Given the description of an element on the screen output the (x, y) to click on. 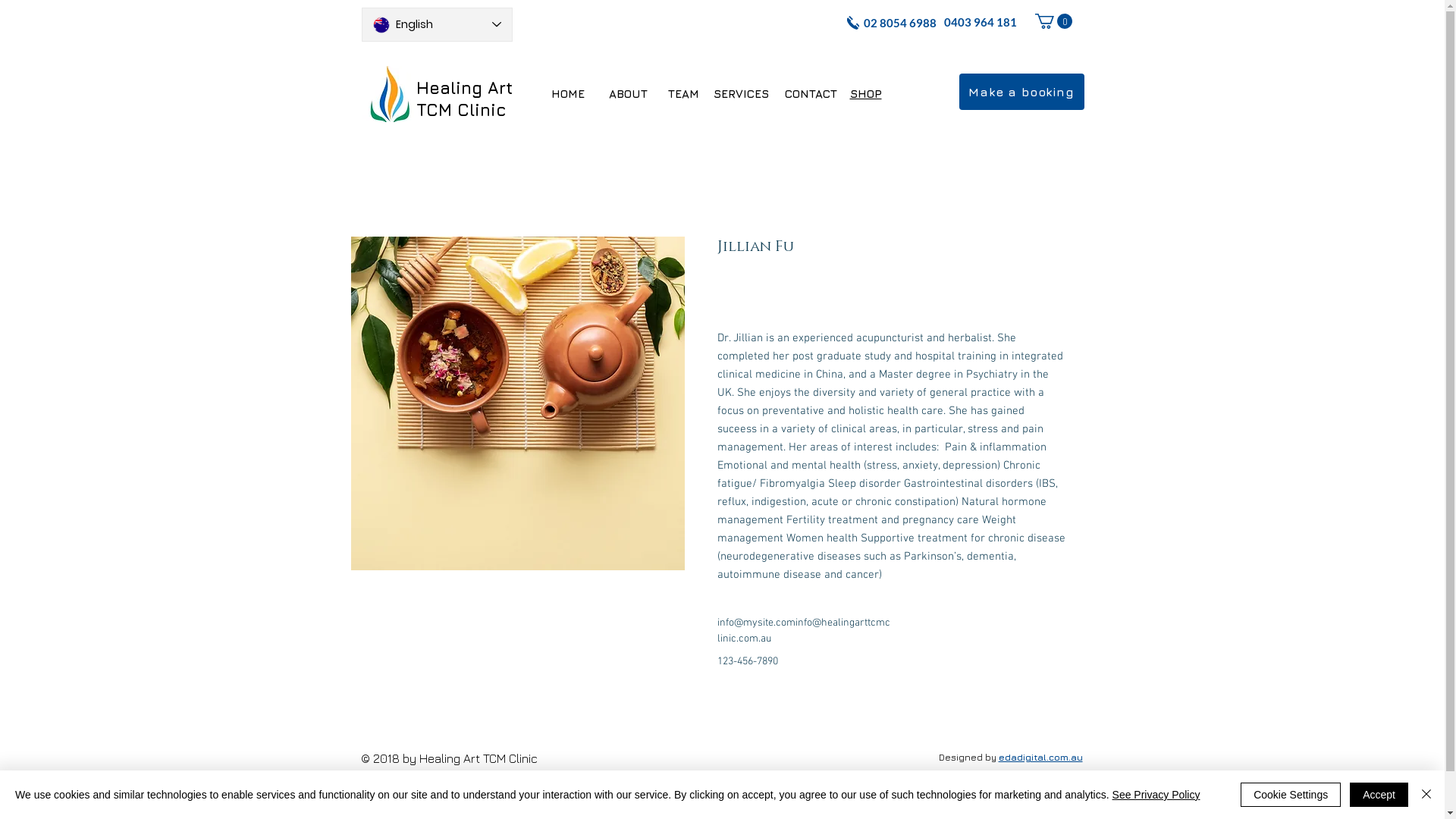
Make a booking Element type: text (1020, 91)
Healing Art
TCM Clinic Element type: text (463, 100)
Cookie Settings Element type: text (1290, 794)
See Privacy Policy Element type: text (1156, 794)
TEAM Element type: text (683, 93)
SERVICES Element type: text (740, 95)
0 Element type: text (1052, 20)
0403 964 181 Element type: text (979, 24)
iStock-1140312365.jpg Element type: hover (517, 403)
edadigital.com.au Element type: text (1039, 756)
CONTACT Element type: text (810, 93)
HOME Element type: text (567, 93)
02 8054 6988 Element type: text (898, 25)
Privacy policy Element type: text (396, 807)
Accept Element type: text (1378, 794)
SHOP Element type: text (865, 95)
ABOUT Element type: text (627, 93)
info@mysite.cominfo Element type: text (764, 622)
Shipping, return & refund policy Element type: text (446, 787)
